Given the description of an element on the screen output the (x, y) to click on. 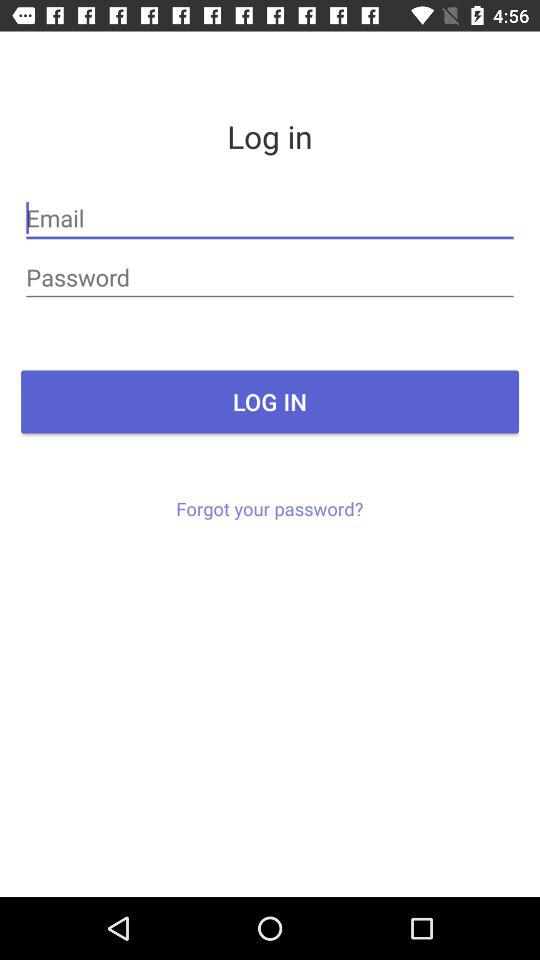
launch item below the log in icon (269, 508)
